Given the description of an element on the screen output the (x, y) to click on. 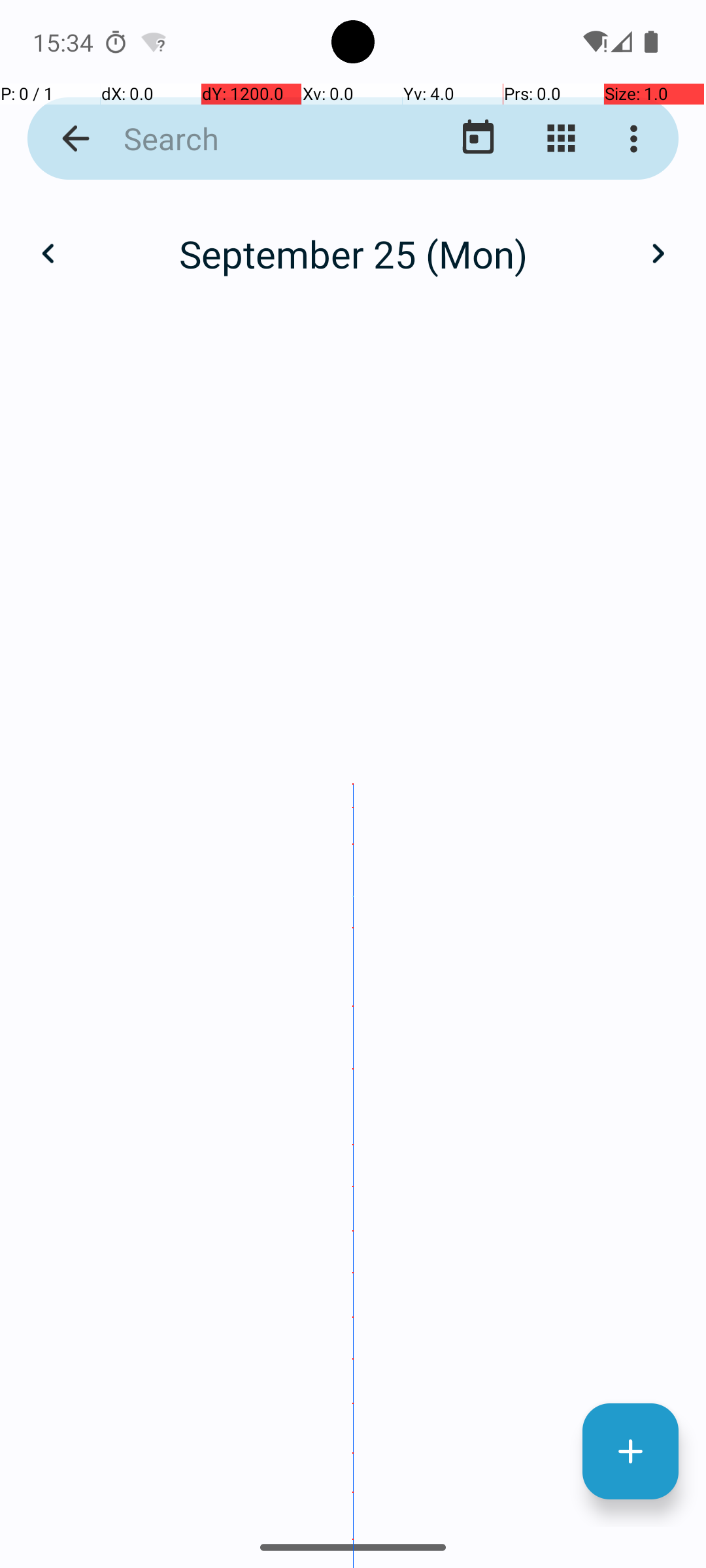
September 25 (Mon) Element type: android.widget.TextView (352, 253)
